Given the description of an element on the screen output the (x, y) to click on. 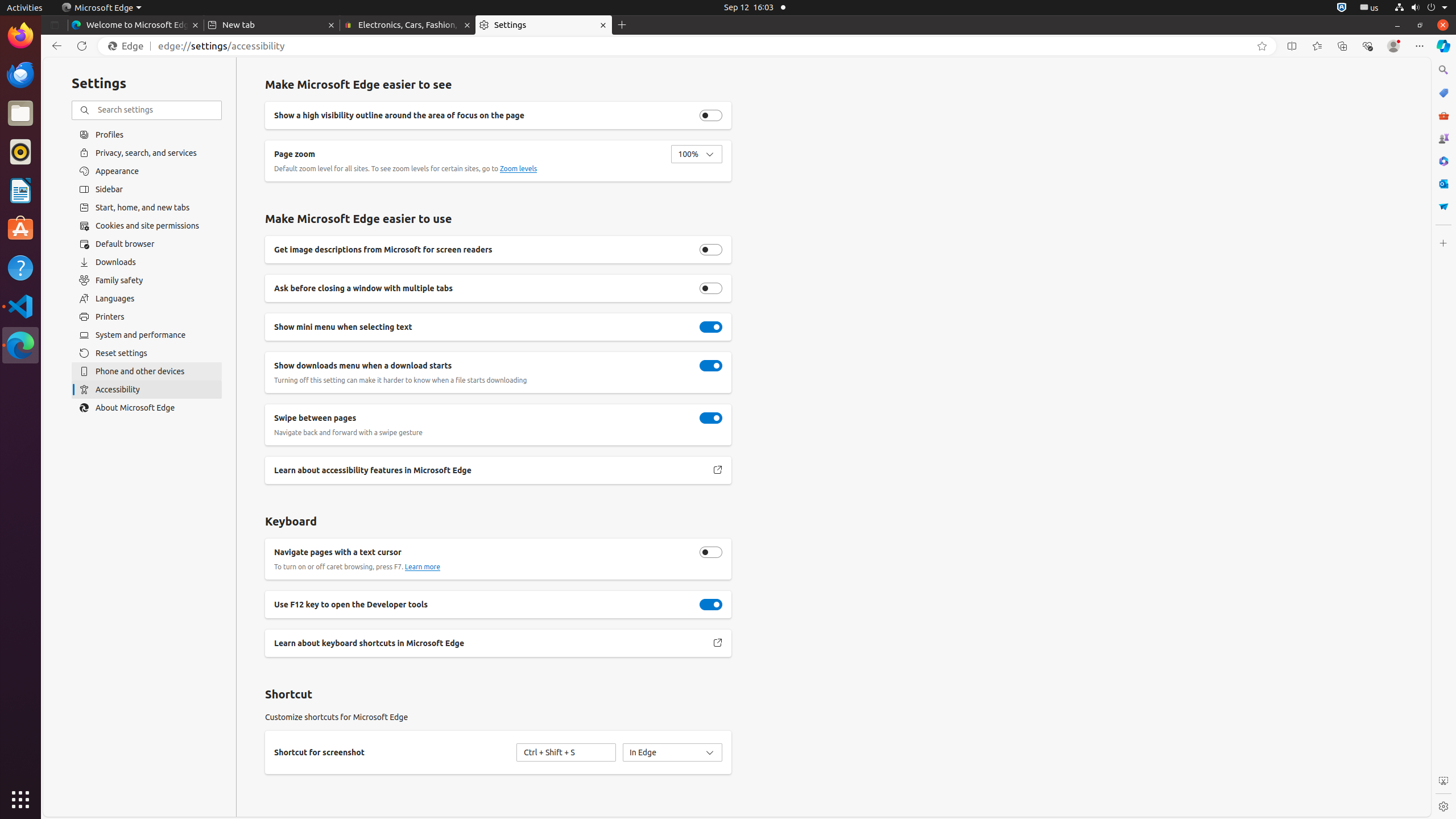
Show downloads menu when a download starts Element type: check-box (710, 365)
About Microsoft Edge Element type: tree-item (146, 407)
Visual Studio Code Element type: push-button (20, 306)
LibreOffice Writer Element type: push-button (20, 190)
Refresh Element type: push-button (81, 45)
